Given the description of an element on the screen output the (x, y) to click on. 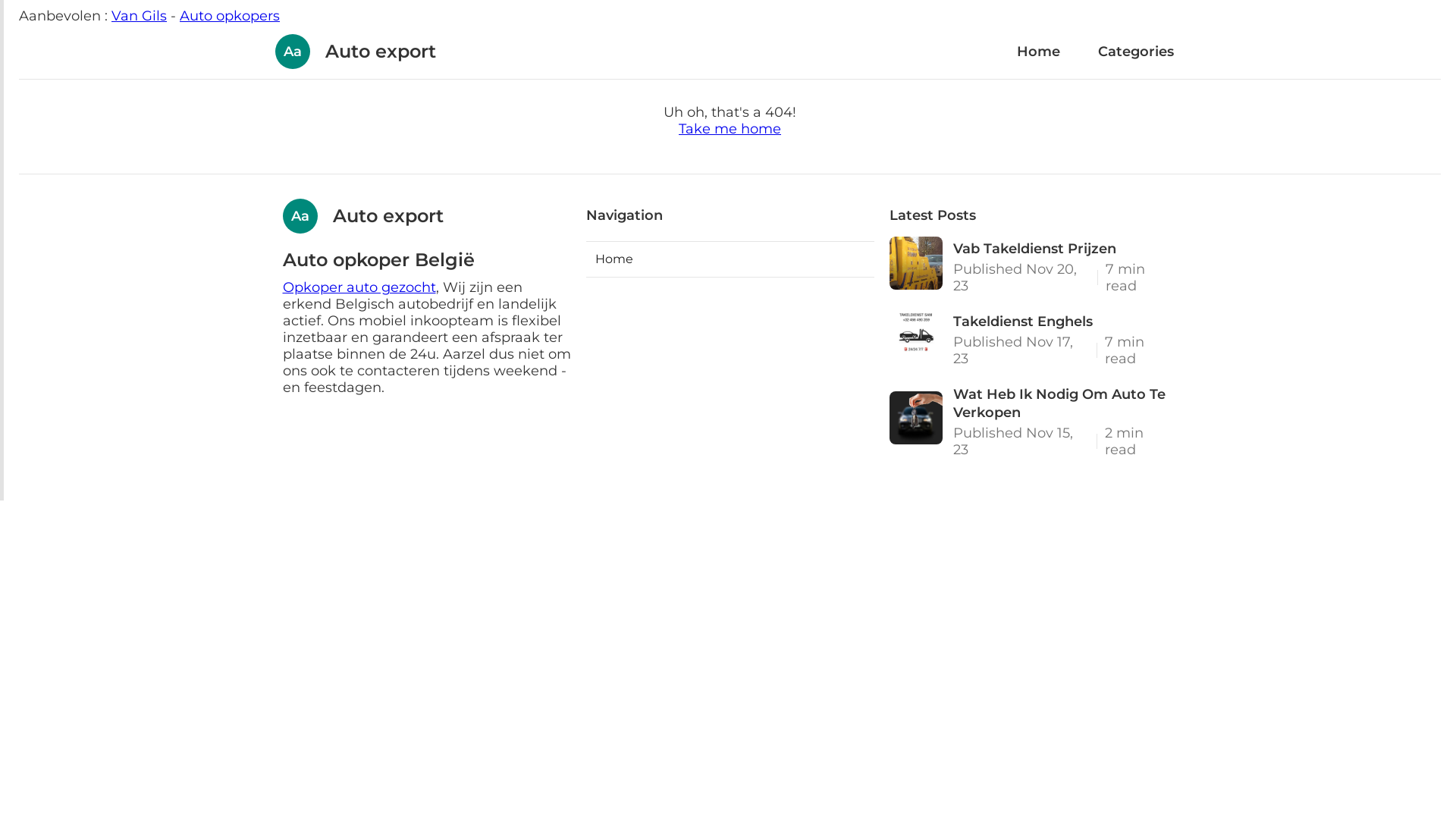
Home Element type: text (729, 259)
Take me home Element type: text (729, 128)
Opkoper auto gezocht Element type: text (358, 287)
Categories Element type: text (1134, 51)
Van Gils Element type: text (138, 15)
Vab Takeldienst Prijzen Element type: text (1064, 248)
Home Element type: text (1038, 51)
Takeldienst Enghels Element type: text (1064, 321)
Wat Heb Ik Nodig Om Auto Te Verkopen Element type: text (1064, 403)
Auto opkopers Element type: text (229, 15)
